Given the description of an element on the screen output the (x, y) to click on. 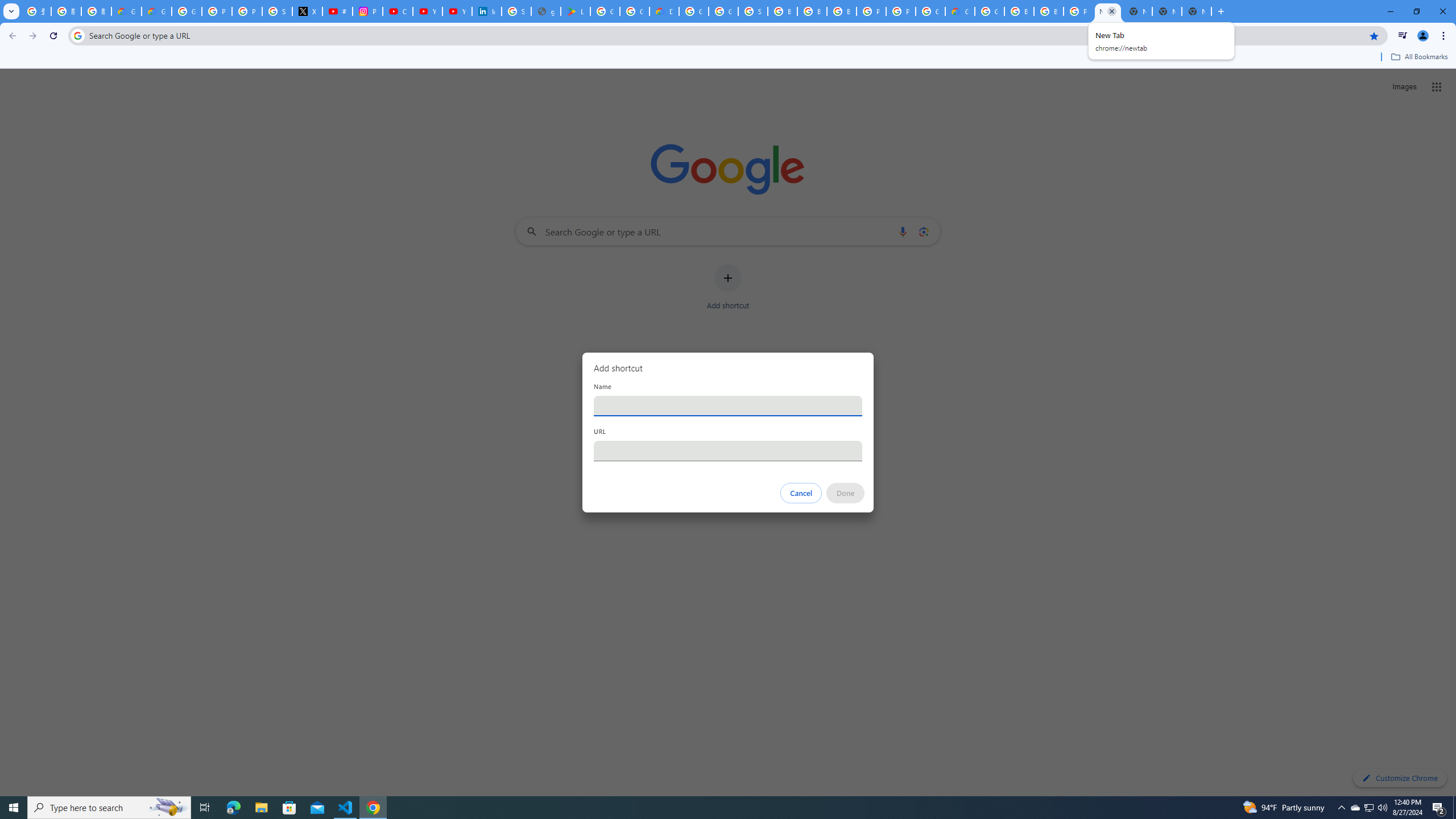
Control your music, videos, and more (1402, 35)
Google Cloud Platform (989, 11)
Privacy Help Center - Policies Help (247, 11)
Google Cloud Privacy Notice (156, 11)
Identity verification via Persona | LinkedIn Help (486, 11)
YouTube Culture & Trends - YouTube Top 10, 2021 (456, 11)
Bookmarks (728, 58)
Cancel (801, 493)
Done (845, 493)
New Tab (1196, 11)
